Given the description of an element on the screen output the (x, y) to click on. 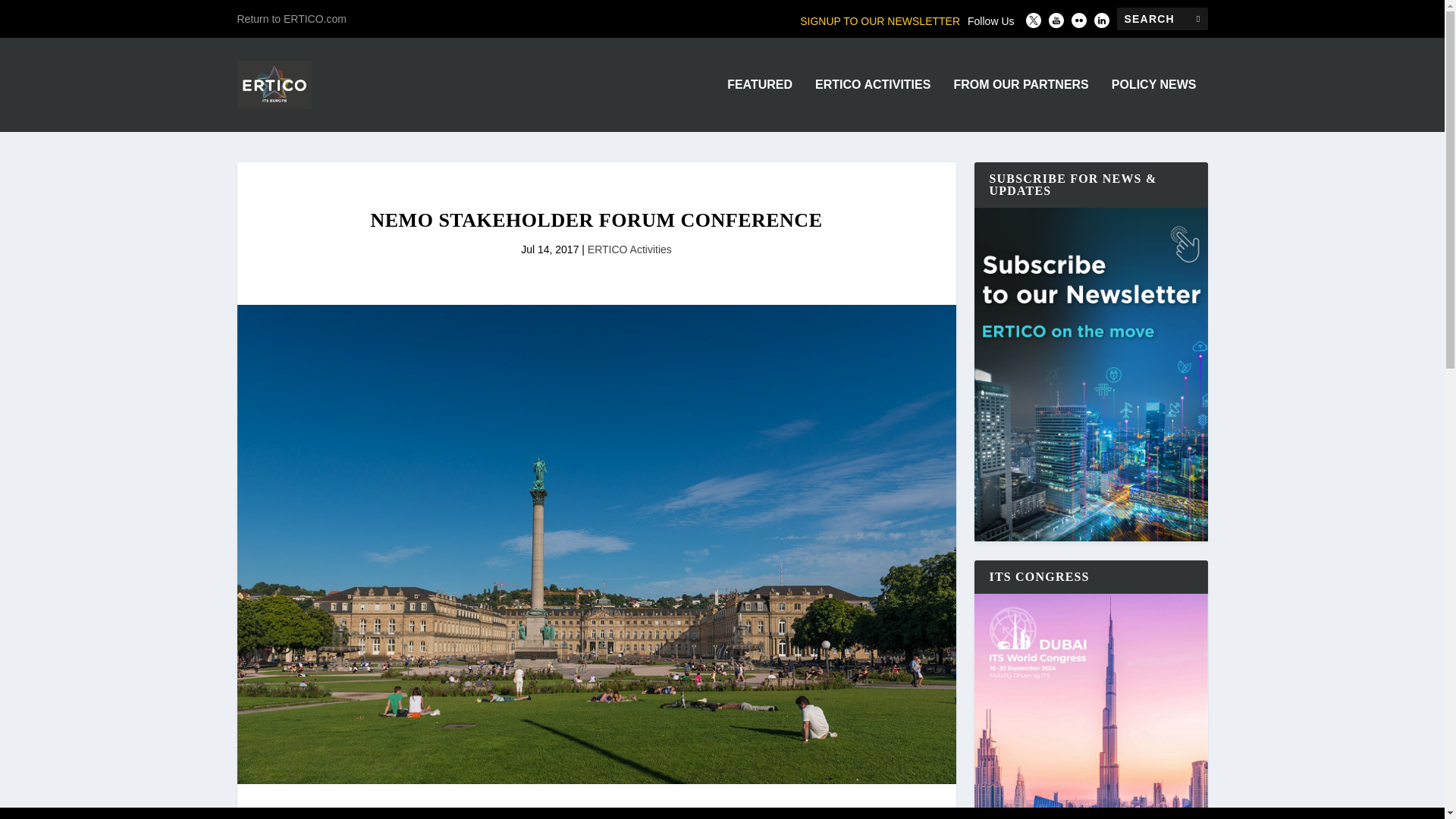
POLICY NEWS (1154, 104)
Return to ERTICO.com (290, 18)
Search for: (1161, 18)
SIGNUP TO OUR NEWSLETTER (879, 21)
FROM OUR PARTNERS (1020, 104)
ERTICO ACTIVITIES (872, 104)
ERTICO Activities (629, 249)
FEATURED (759, 104)
